Given the description of an element on the screen output the (x, y) to click on. 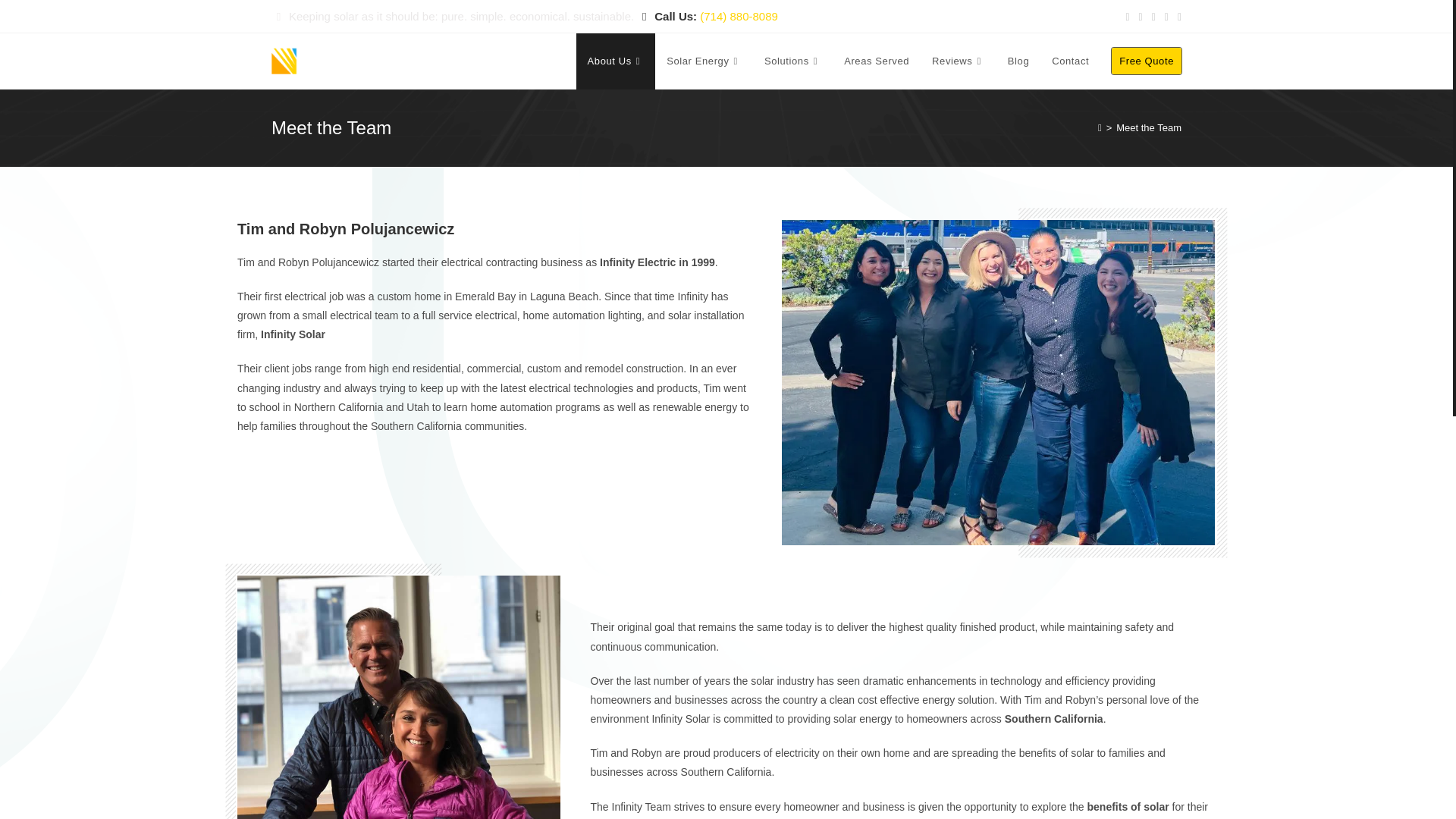
Contact (1070, 61)
Solutions (792, 61)
Areas Served (876, 61)
About Us (616, 61)
Free Quote (1146, 61)
Solar Energy (703, 61)
Reviews (957, 61)
